Given the description of an element on the screen output the (x, y) to click on. 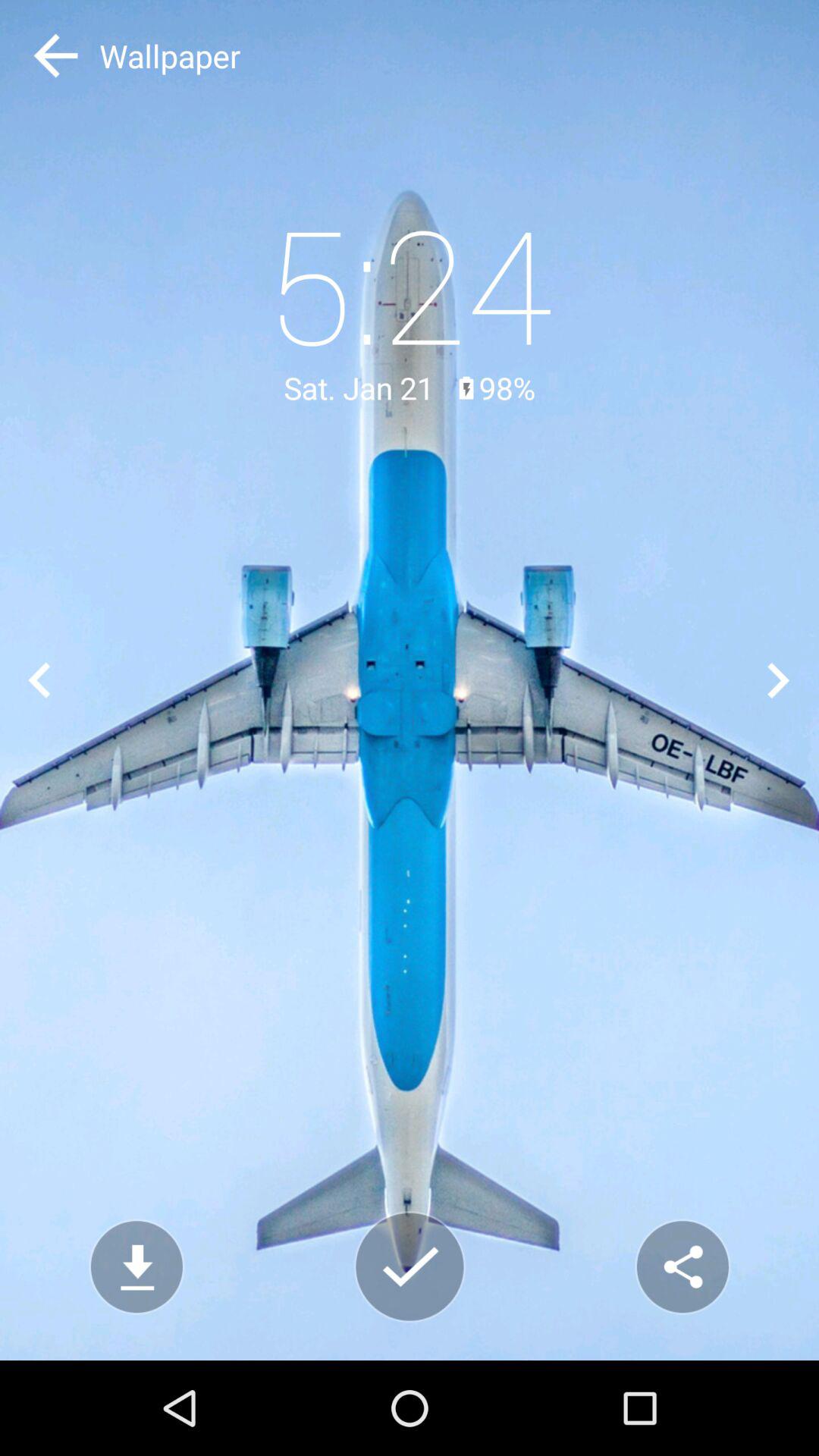
go to next (779, 680)
